Given the description of an element on the screen output the (x, y) to click on. 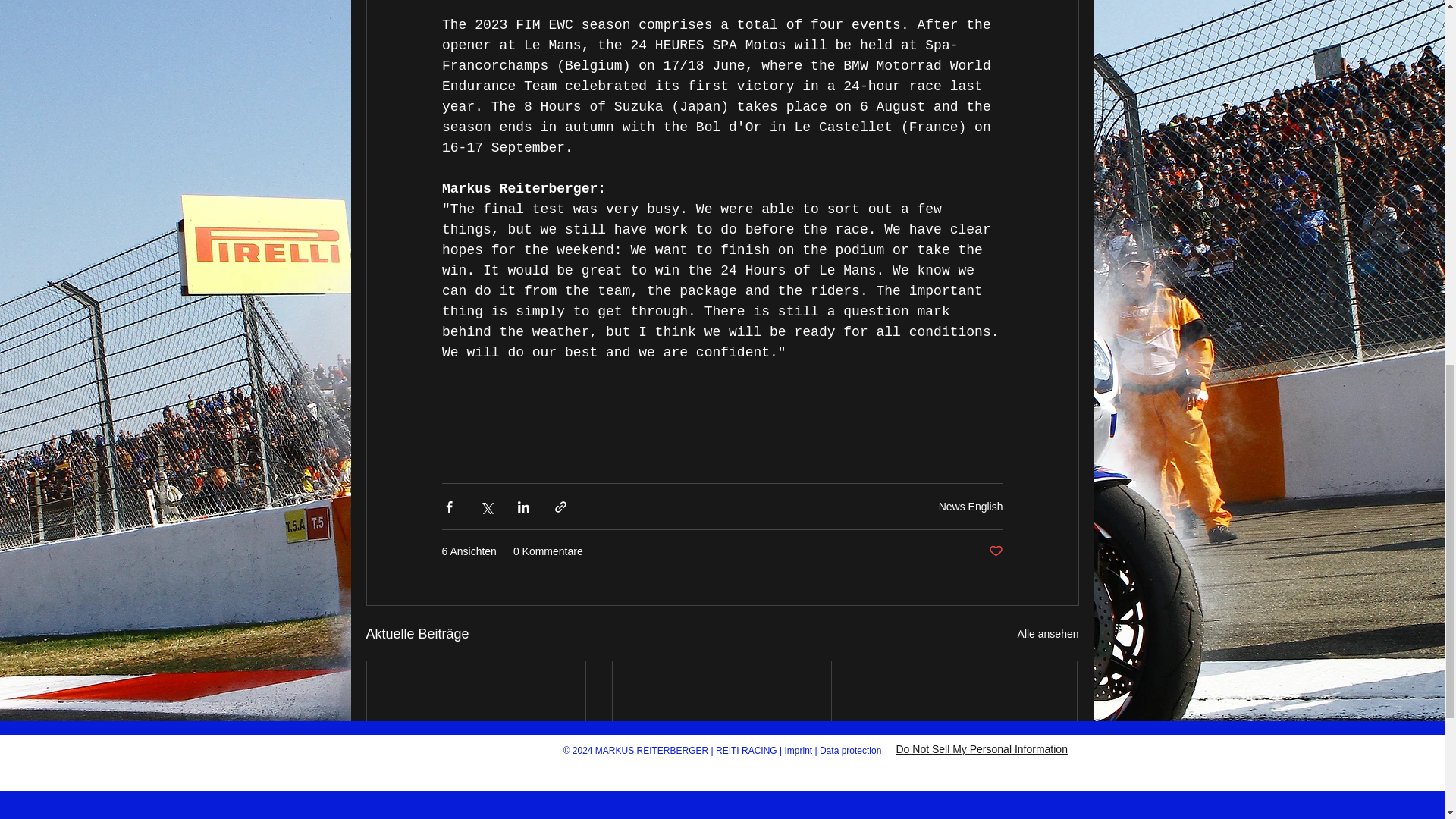
News English (971, 506)
Markus Reiterberger announces return to the IDM (721, 810)
EWC Suzuka: Markus Reiterberger and BMW aim for top result (967, 810)
EWC Suzuka: Markus Reiterberger and BMW finish in the Top 5! (476, 810)
Alle ansehen (1047, 634)
